Given the description of an element on the screen output the (x, y) to click on. 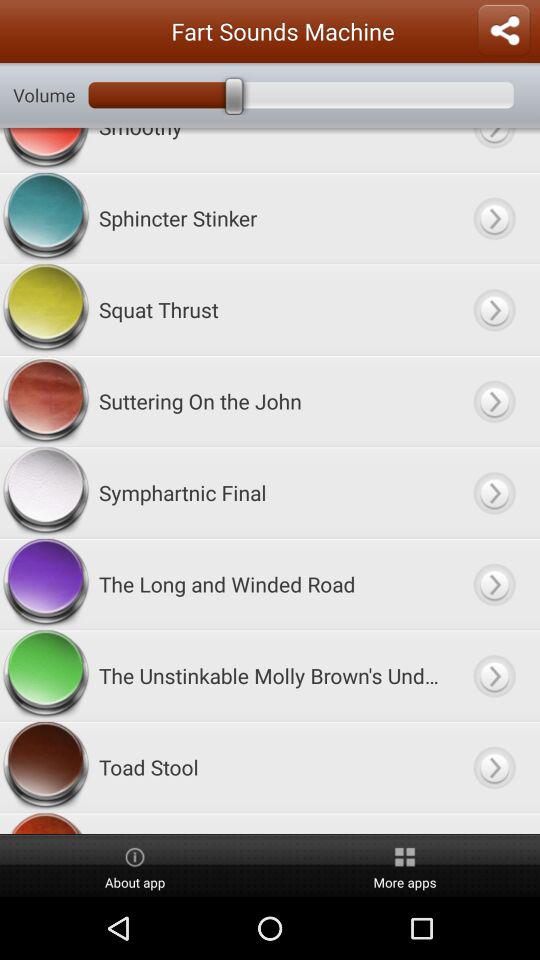
launch icon to the right of the about app item (405, 866)
